Given the description of an element on the screen output the (x, y) to click on. 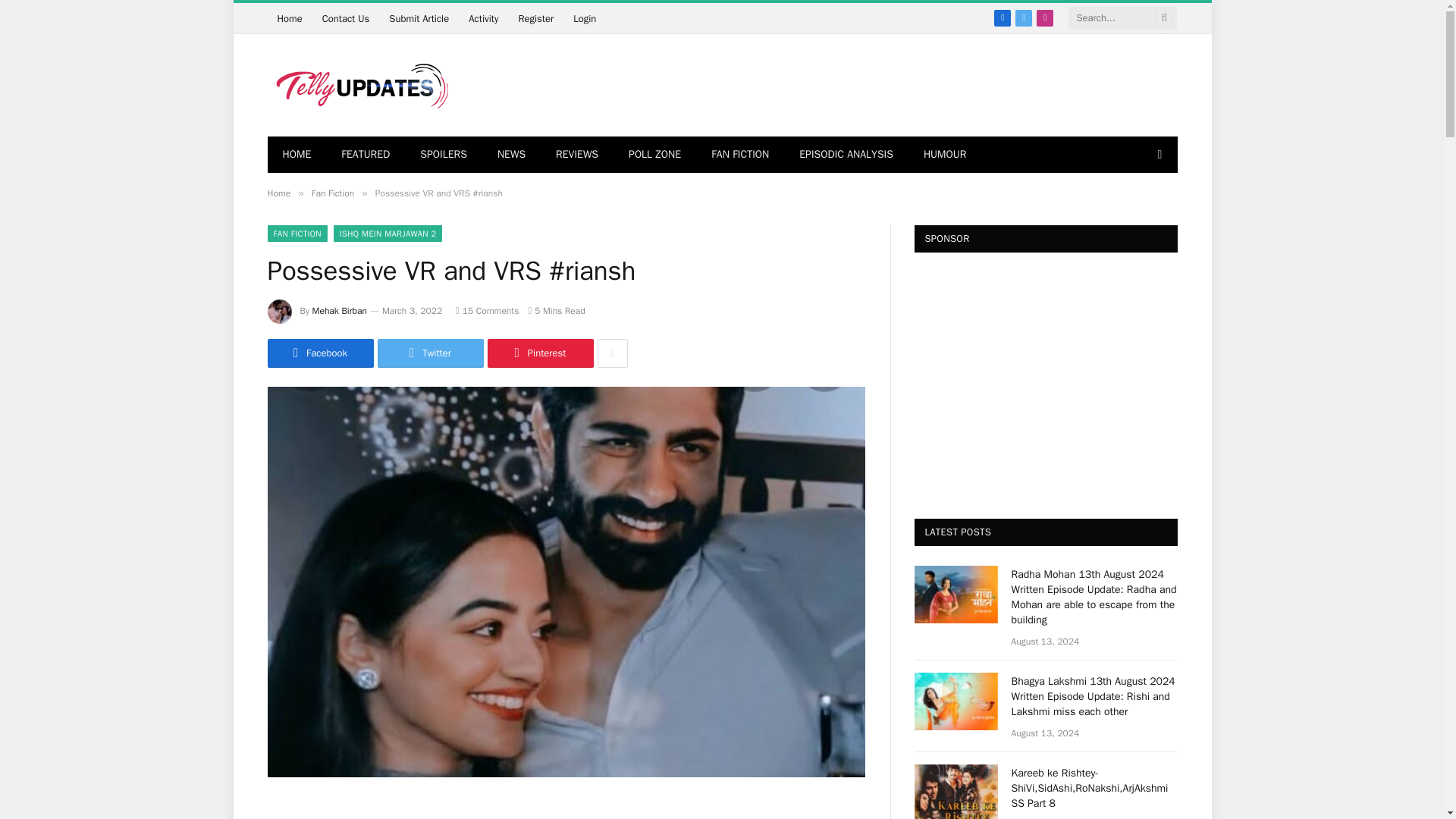
FEATURED (365, 154)
SPOILERS (442, 154)
Instagram (1044, 17)
NEWS (510, 154)
Home (288, 18)
POLL ZONE (653, 154)
Share on Pinterest (539, 353)
Submit Article (418, 18)
FAN FICTION (739, 154)
EPISODIC ANALYSIS (846, 154)
